Given the description of an element on the screen output the (x, y) to click on. 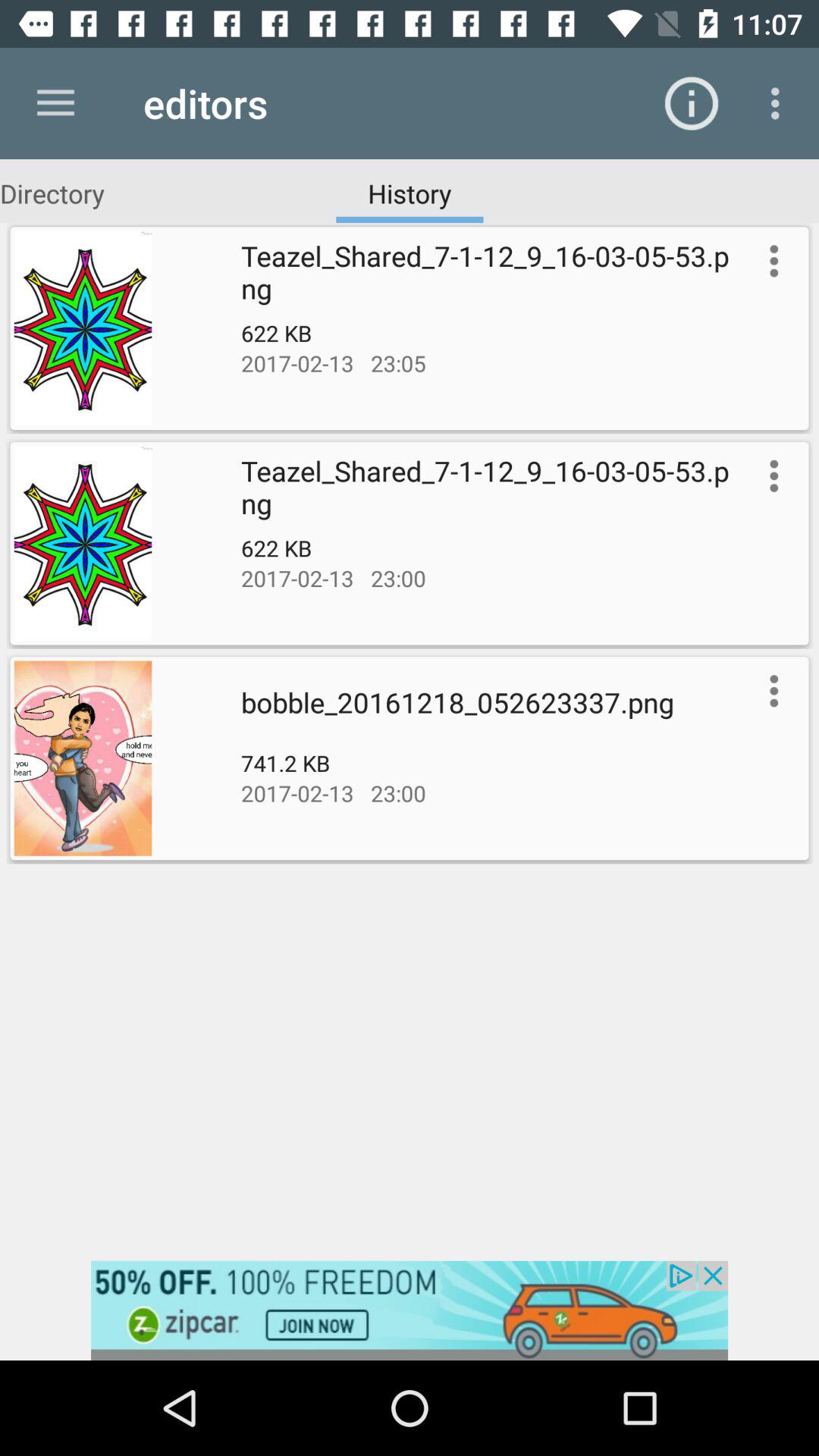
toggle more options (770, 260)
